Given the description of an element on the screen output the (x, y) to click on. 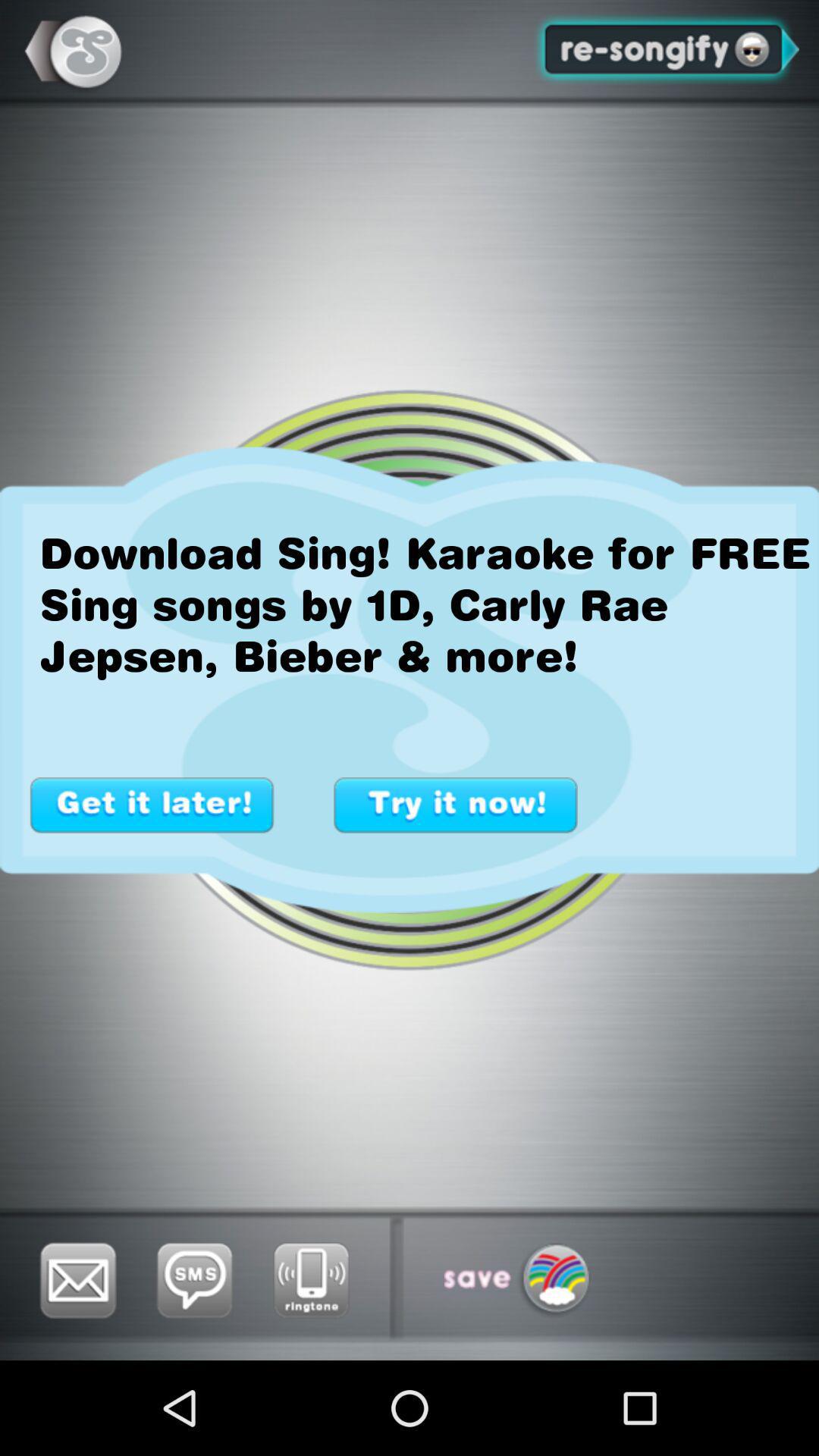
try it button (455, 805)
